Given the description of an element on the screen output the (x, y) to click on. 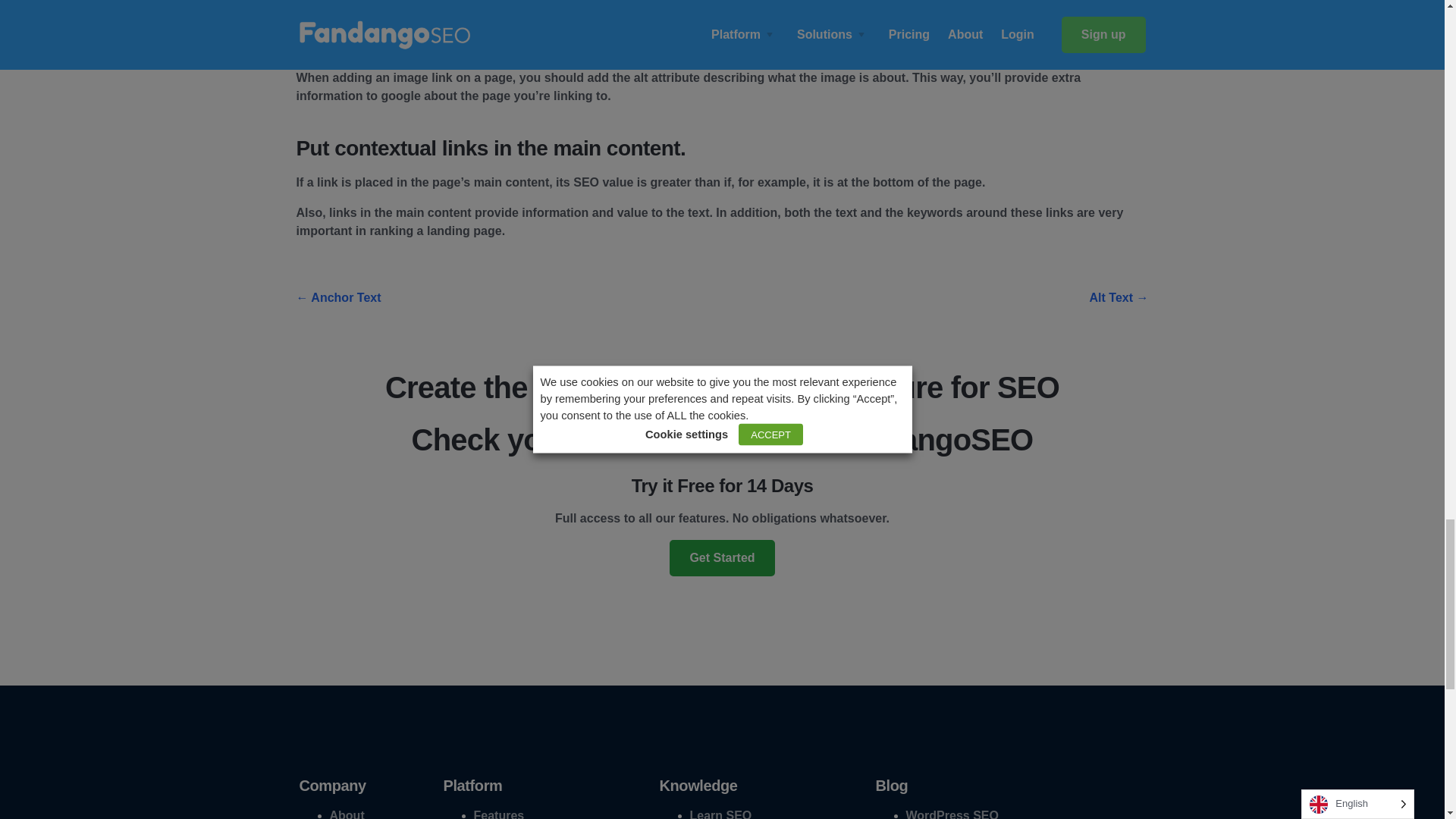
Anchor Text (337, 297)
